Given the description of an element on the screen output the (x, y) to click on. 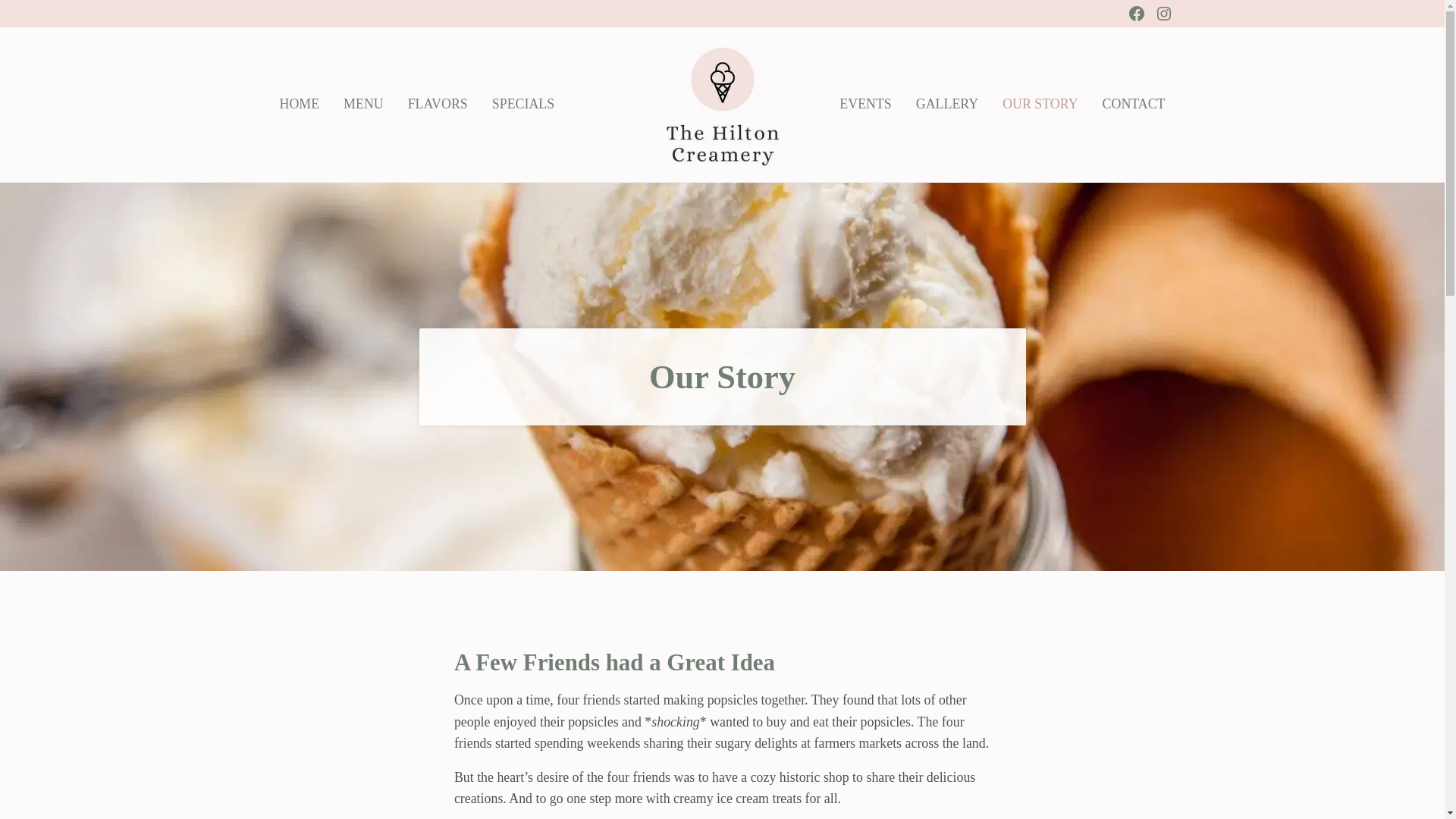
HOME (298, 104)
SPECIALS (523, 104)
GALLERY (947, 104)
MENU (363, 104)
Instagram (1163, 13)
FLAVORS (438, 104)
EVENTS (864, 104)
CONTACT (1133, 104)
OUR STORY (1039, 104)
